Given the description of an element on the screen output the (x, y) to click on. 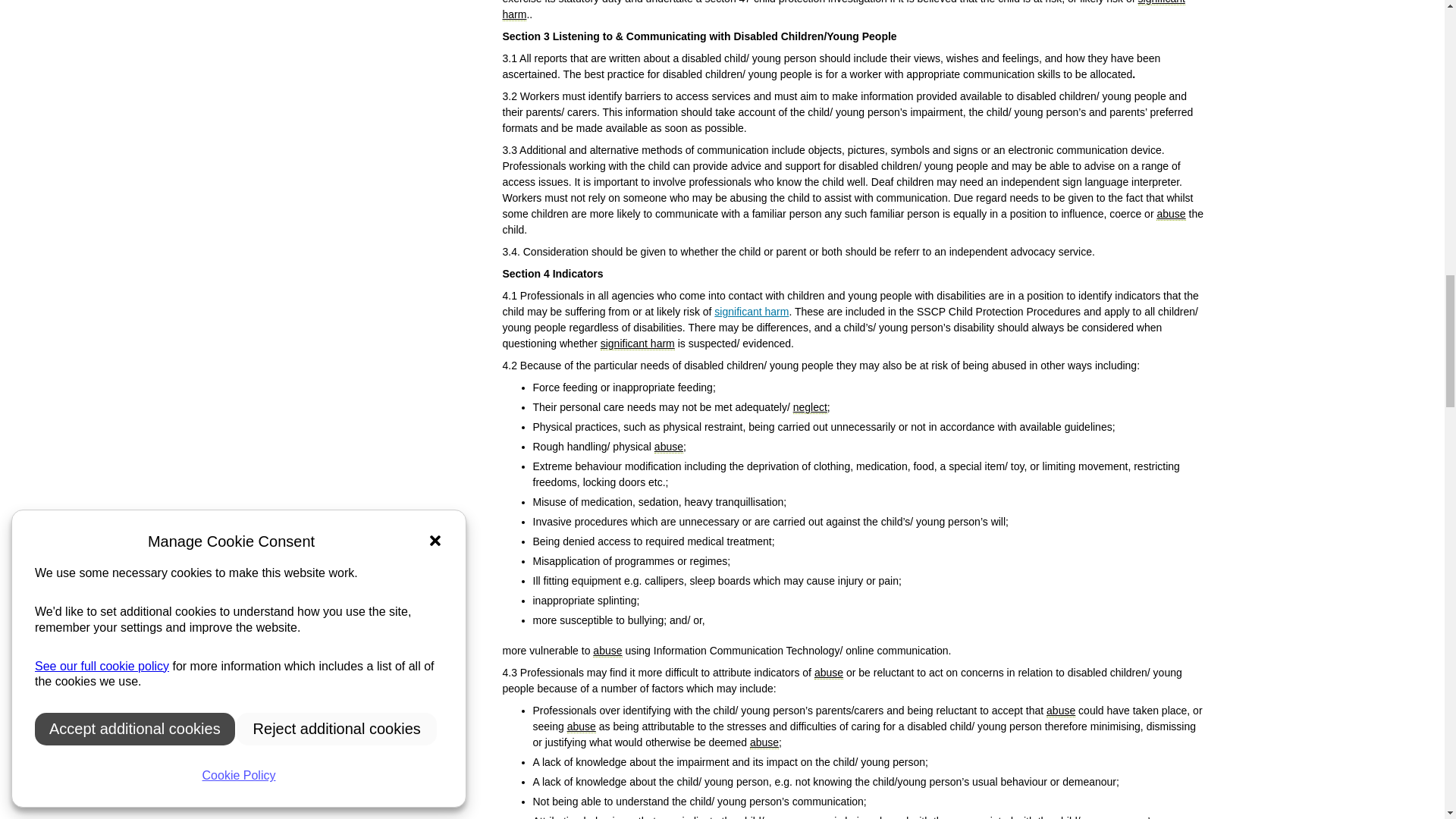
abuse (667, 446)
abuse (828, 672)
significant harm (637, 343)
abuse (1060, 710)
abuse (606, 650)
significant harm (843, 10)
significant harm (751, 311)
abuse (763, 742)
neglect (810, 407)
abuse (1170, 214)
